Given the description of an element on the screen output the (x, y) to click on. 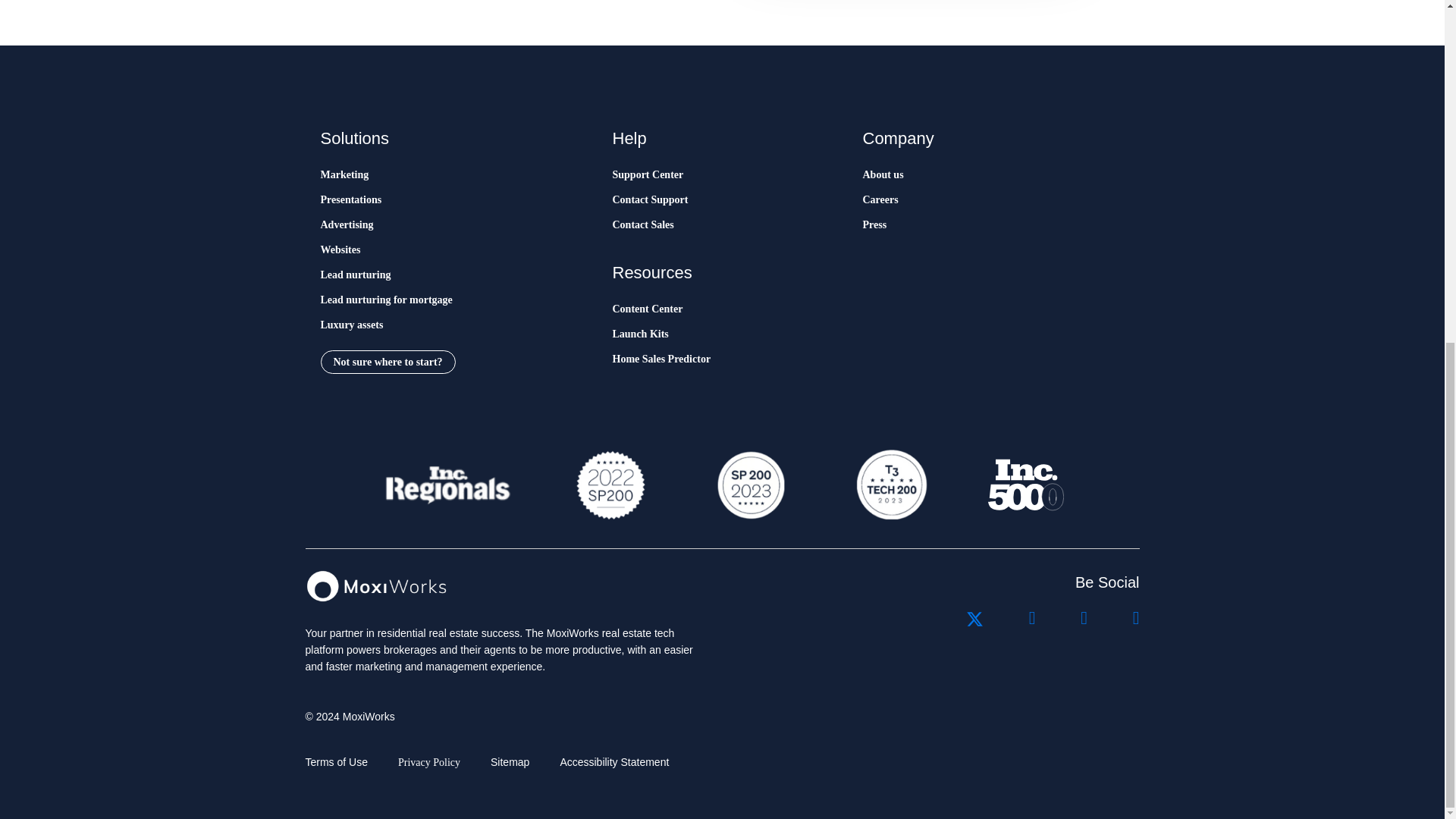
T3 tech 200 2023 (890, 484)
SP 2022 (610, 484)
SP 2023 (749, 484)
